Given the description of an element on the screen output the (x, y) to click on. 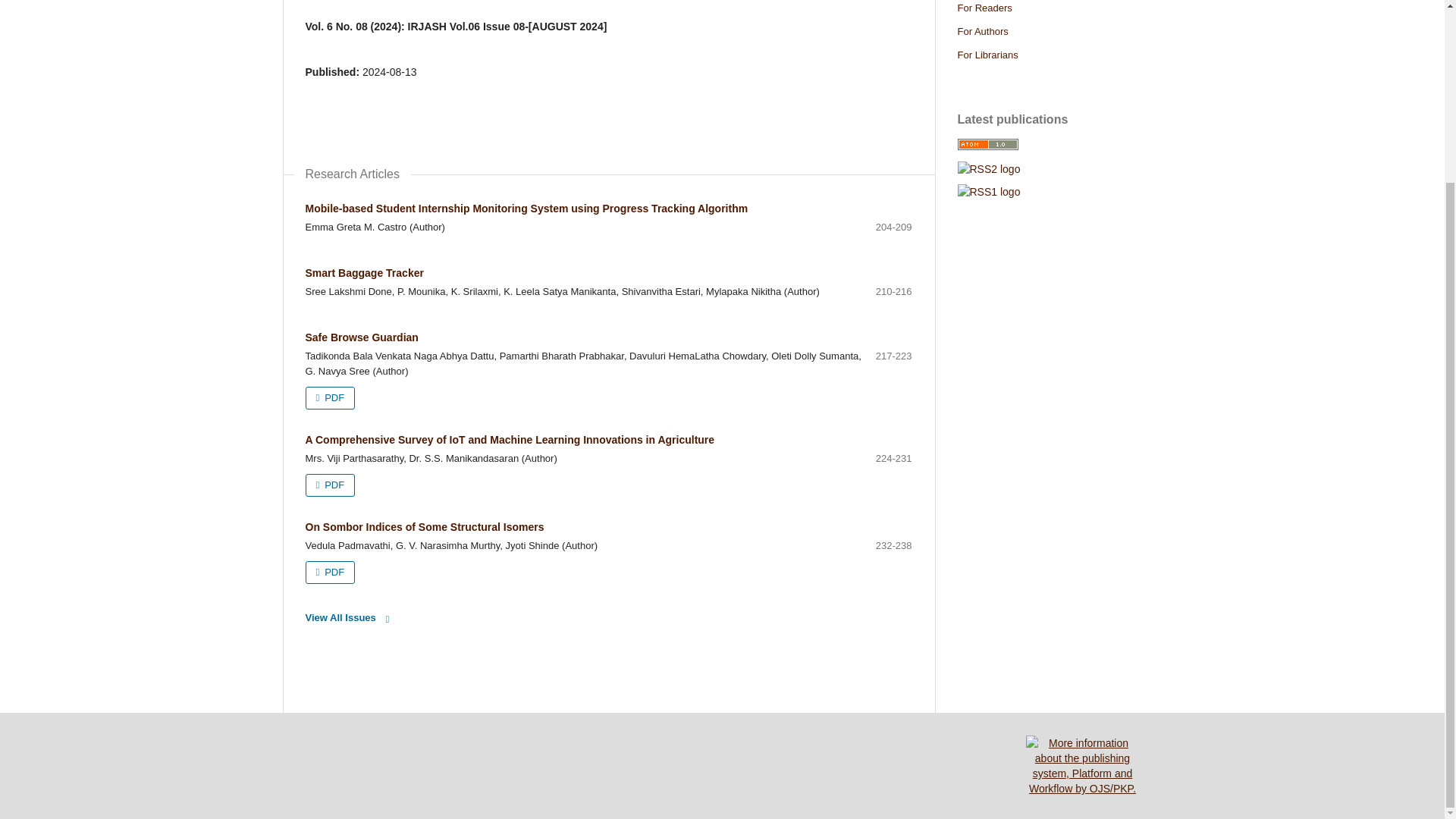
For Librarians (986, 54)
PDF (329, 485)
View All Issues (350, 617)
PDF (329, 572)
For Readers (983, 7)
On Sombor Indices of Some Structural Isomers (423, 526)
Safe Browse Guardian (360, 337)
PDF (329, 397)
For Authors (981, 30)
